Given the description of an element on the screen output the (x, y) to click on. 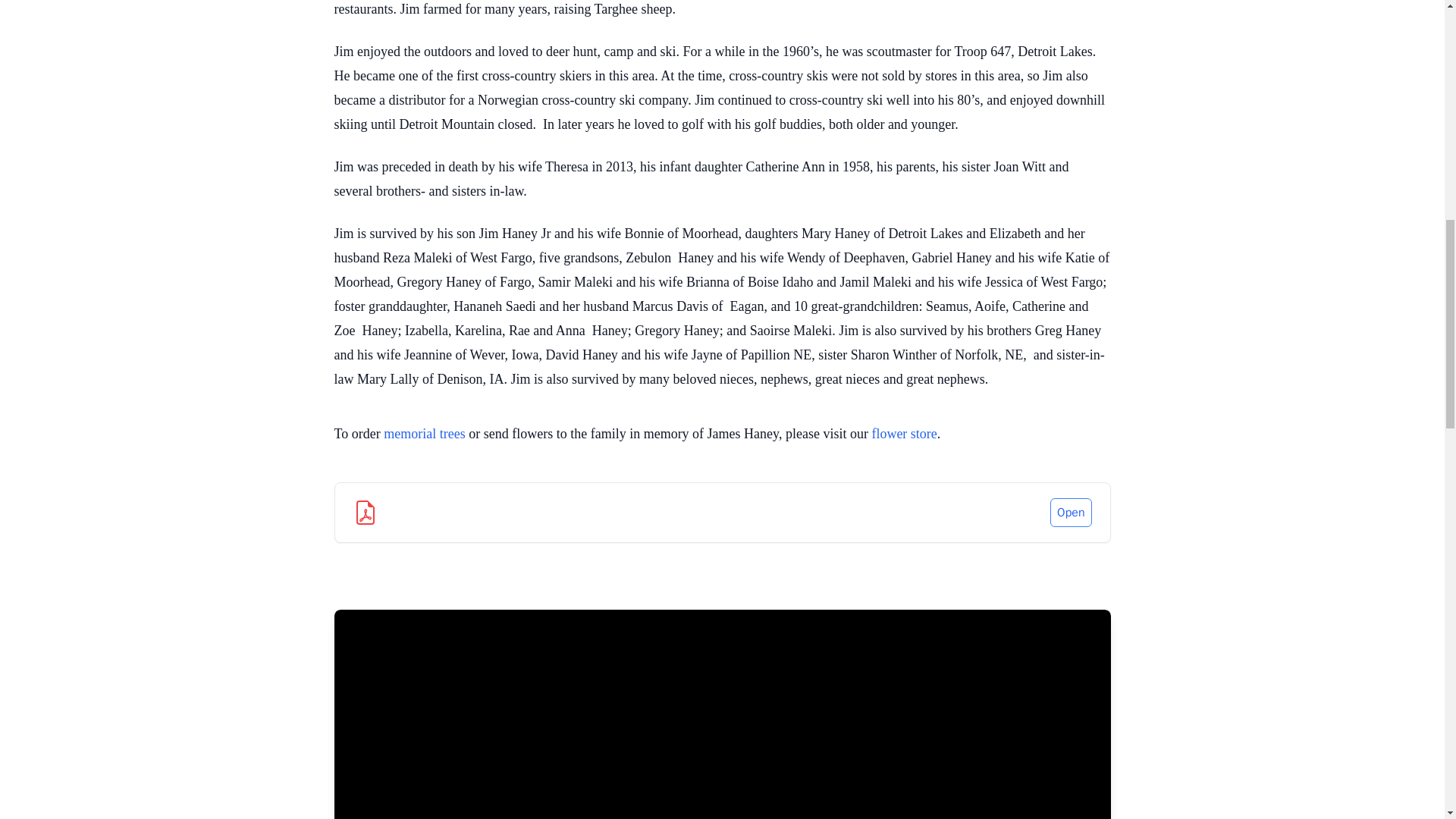
Open (1069, 512)
flower store (903, 433)
memorial trees (424, 433)
